Given the description of an element on the screen output the (x, y) to click on. 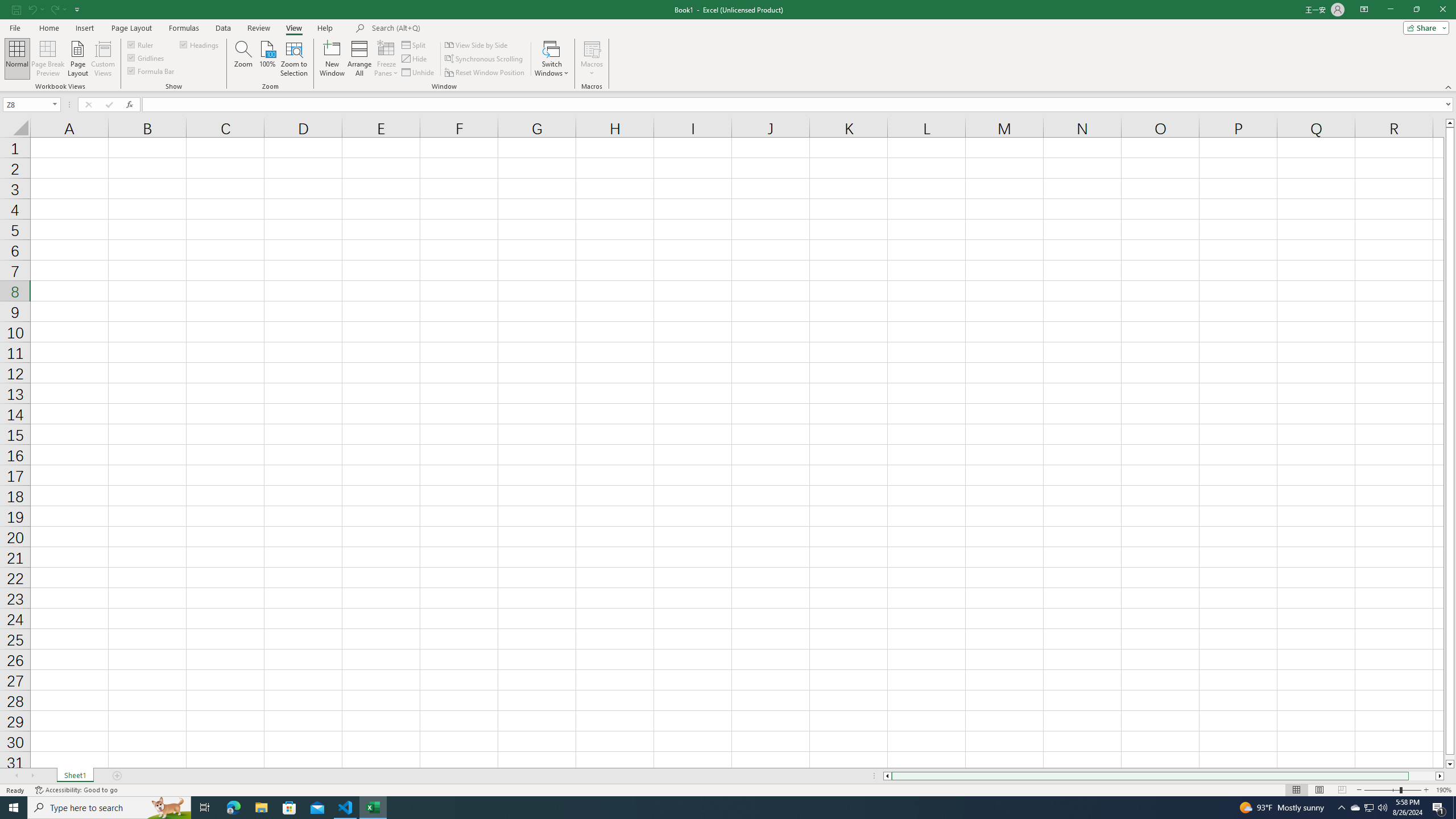
Reset Window Position (485, 72)
Unhide... (419, 72)
Split (414, 44)
